Given the description of an element on the screen output the (x, y) to click on. 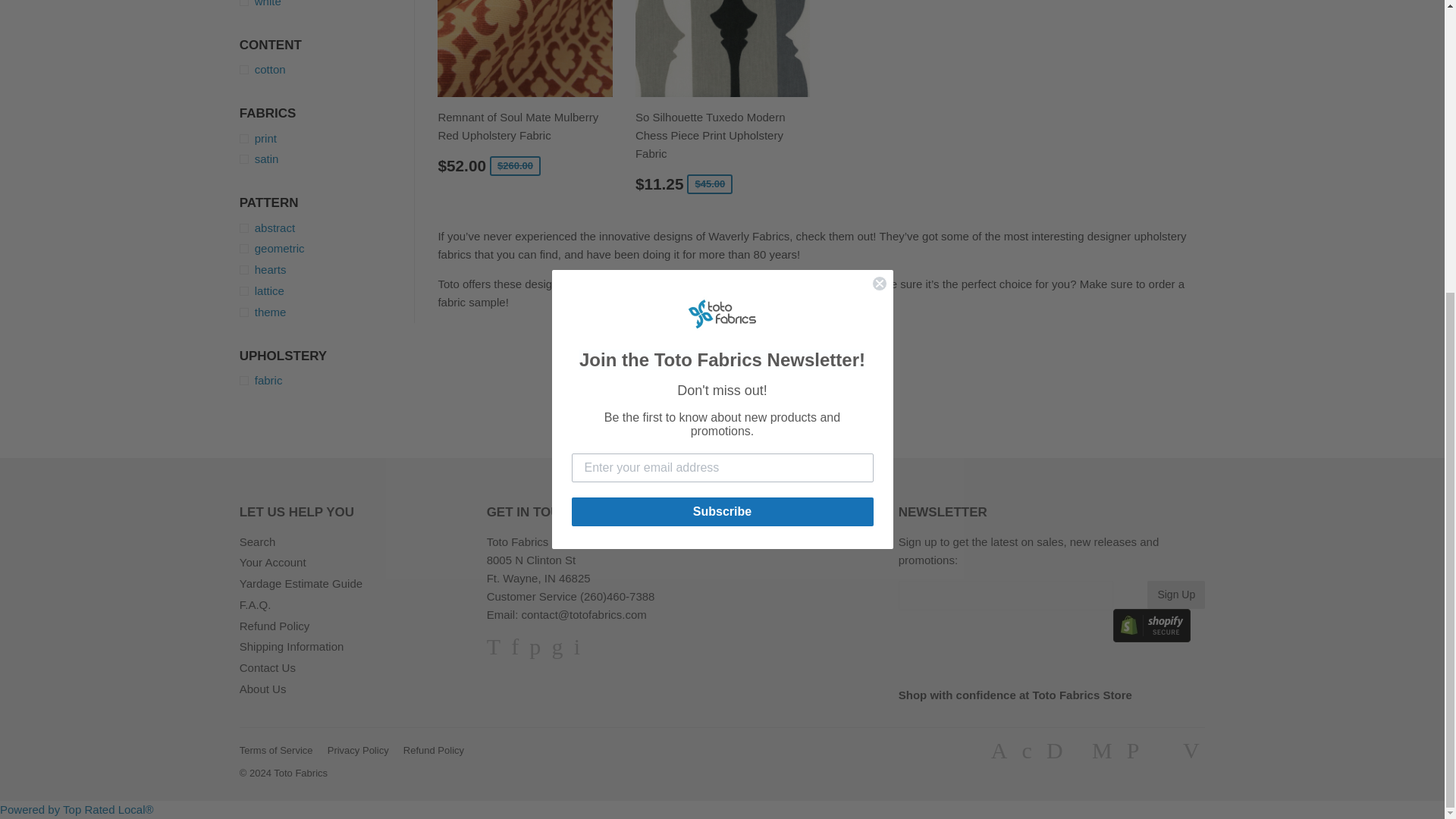
Sign Up (1176, 594)
narrow selection to products matching tag pattern-lattice (327, 290)
narrow selection to products matching tag content-cotton (327, 69)
narrow selection to products matching tag color-white (327, 5)
narrow selection to products matching tag pattern-geometric (327, 248)
narrow selection to products matching tag upholstery-fabric (327, 380)
narrow selection to products matching tag fabrics-satin (327, 158)
narrow selection to products matching tag fabrics-print (327, 138)
narrow selection to products matching tag pattern-theme (327, 312)
narrow selection to products matching tag pattern-abstract (327, 228)
narrow selection to products matching tag pattern-hearts (327, 270)
Toto Fabrics on Twitter (493, 649)
